Given the description of an element on the screen output the (x, y) to click on. 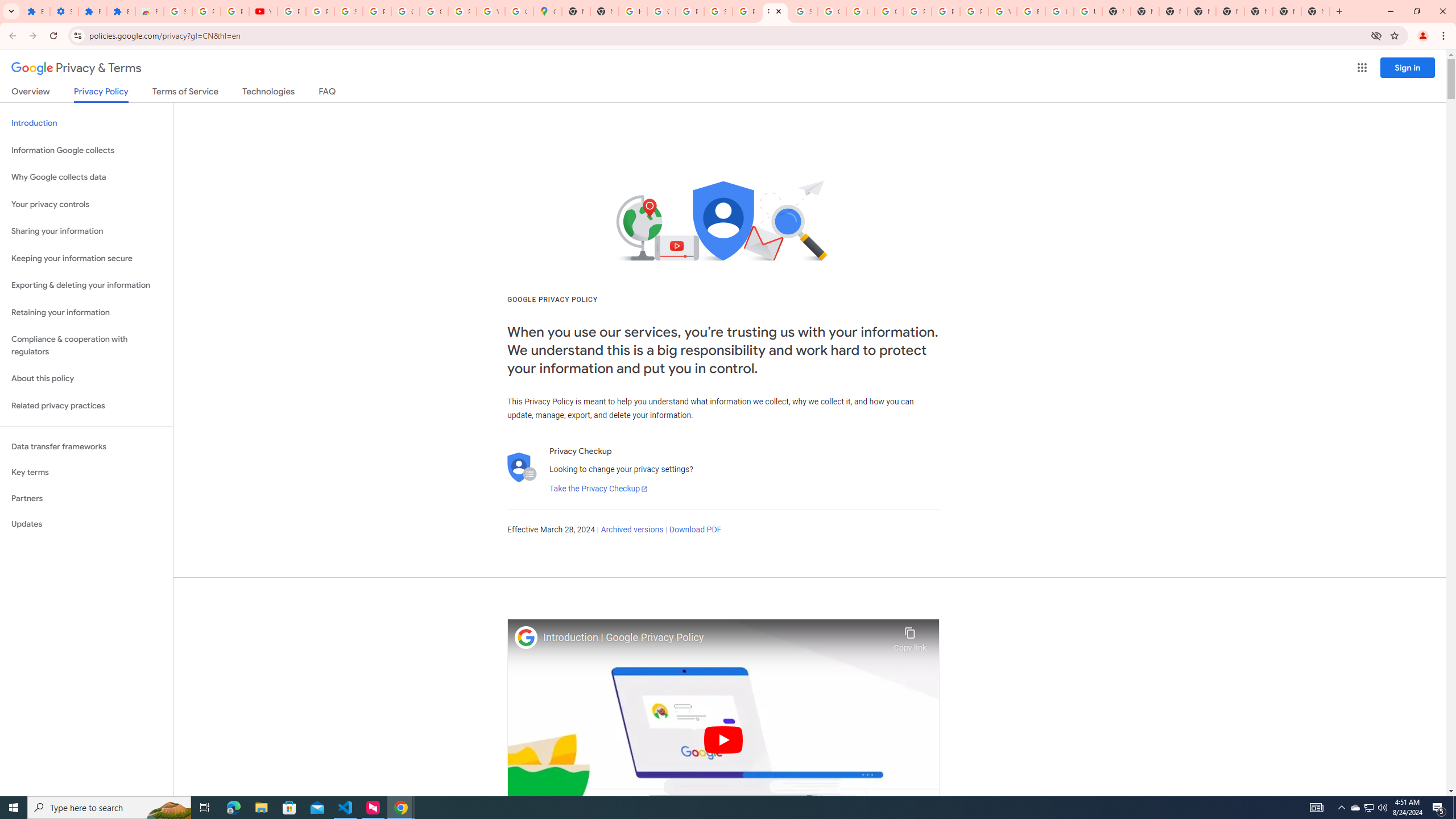
Introduction | Google Privacy Policy (715, 637)
YouTube (490, 11)
Privacy Help Center - Policies Help (917, 11)
Sign in - Google Accounts (348, 11)
Play (723, 739)
Google Account (405, 11)
